Given the description of an element on the screen output the (x, y) to click on. 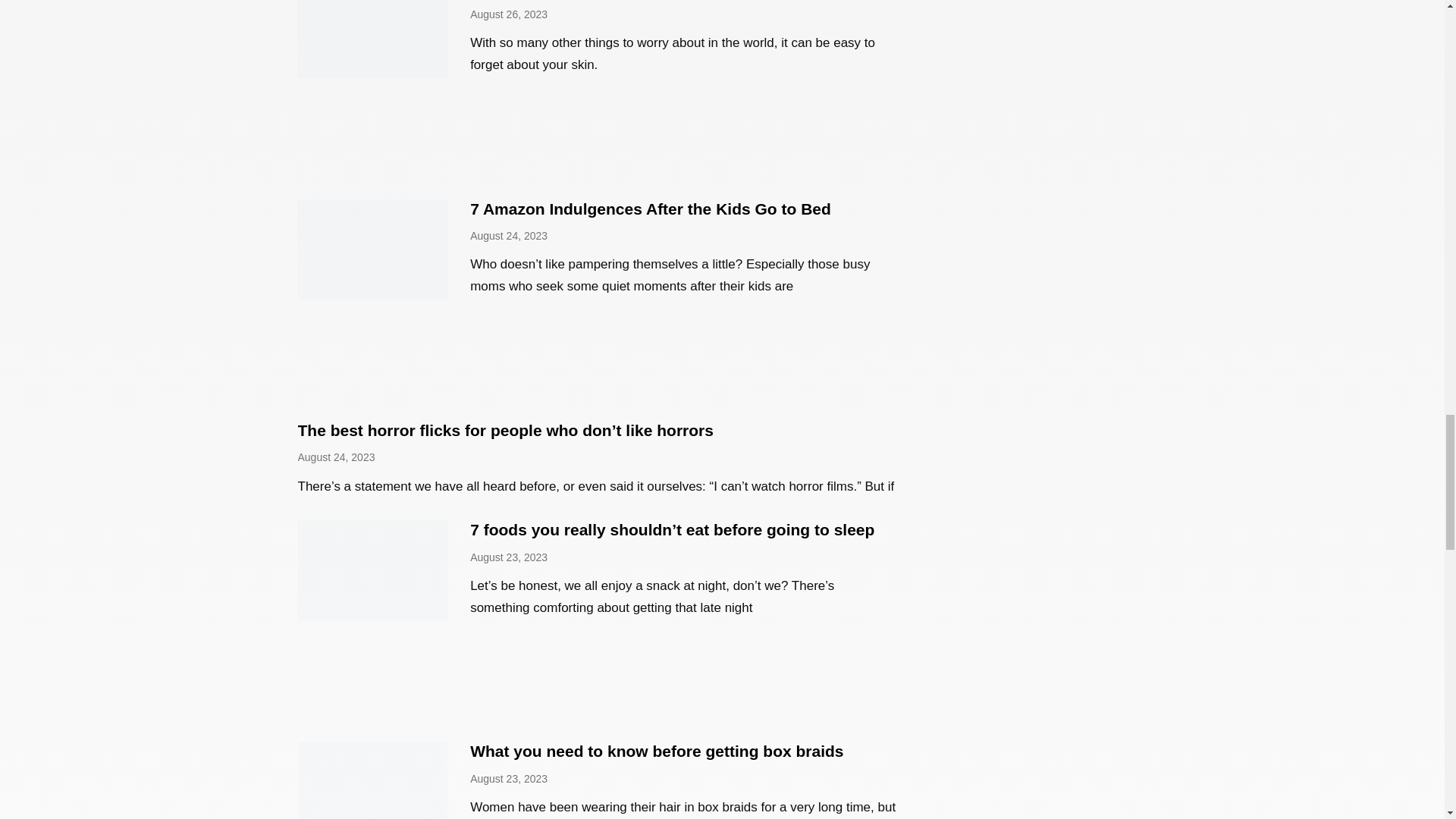
7 Amazon Indulgences After the Kids Go to Bed (650, 208)
What you need to know before getting box braids (656, 751)
